Given the description of an element on the screen output the (x, y) to click on. 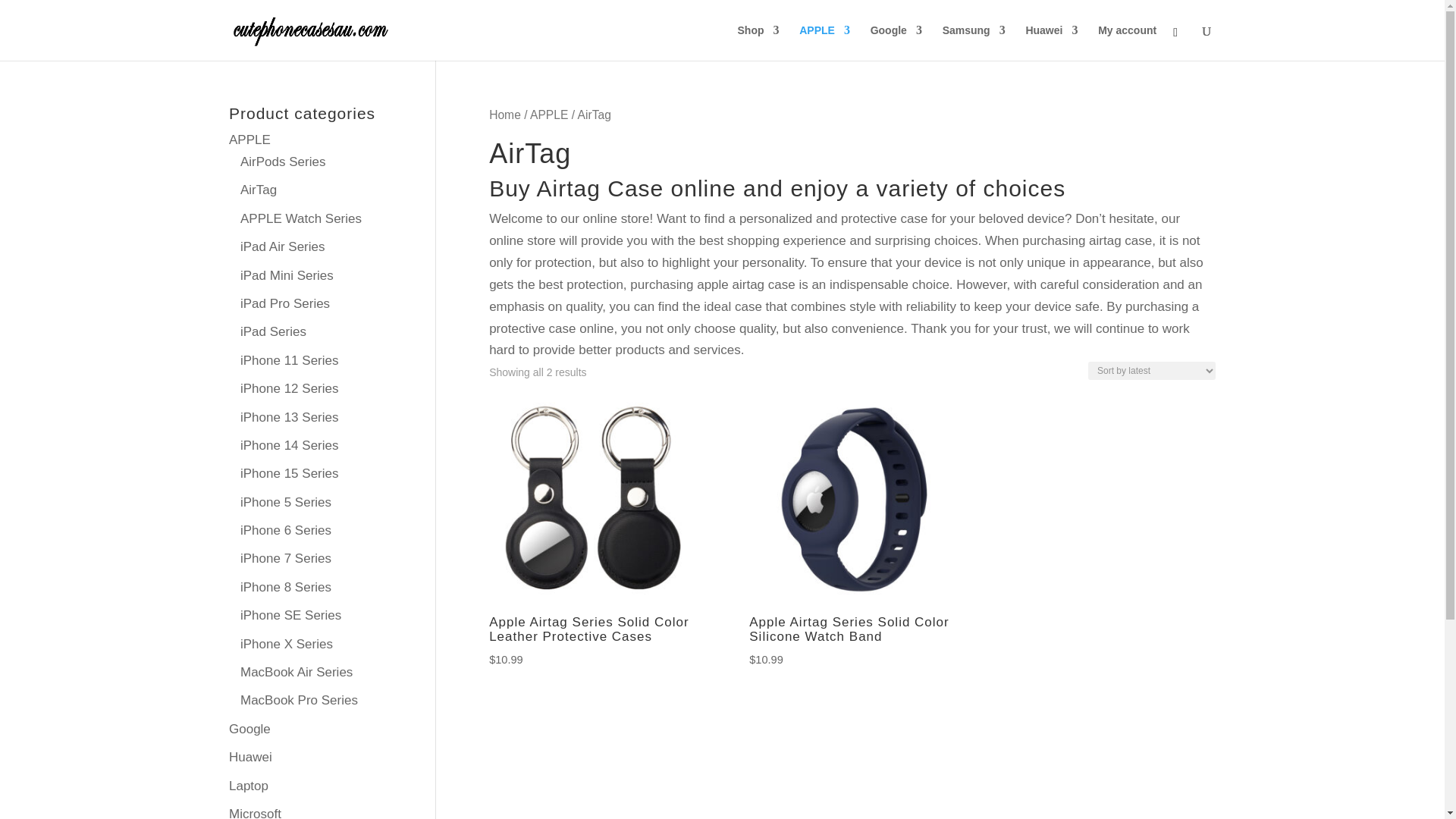
Shop (758, 42)
APPLE (824, 42)
Google (895, 42)
Samsung (974, 42)
